Given the description of an element on the screen output the (x, y) to click on. 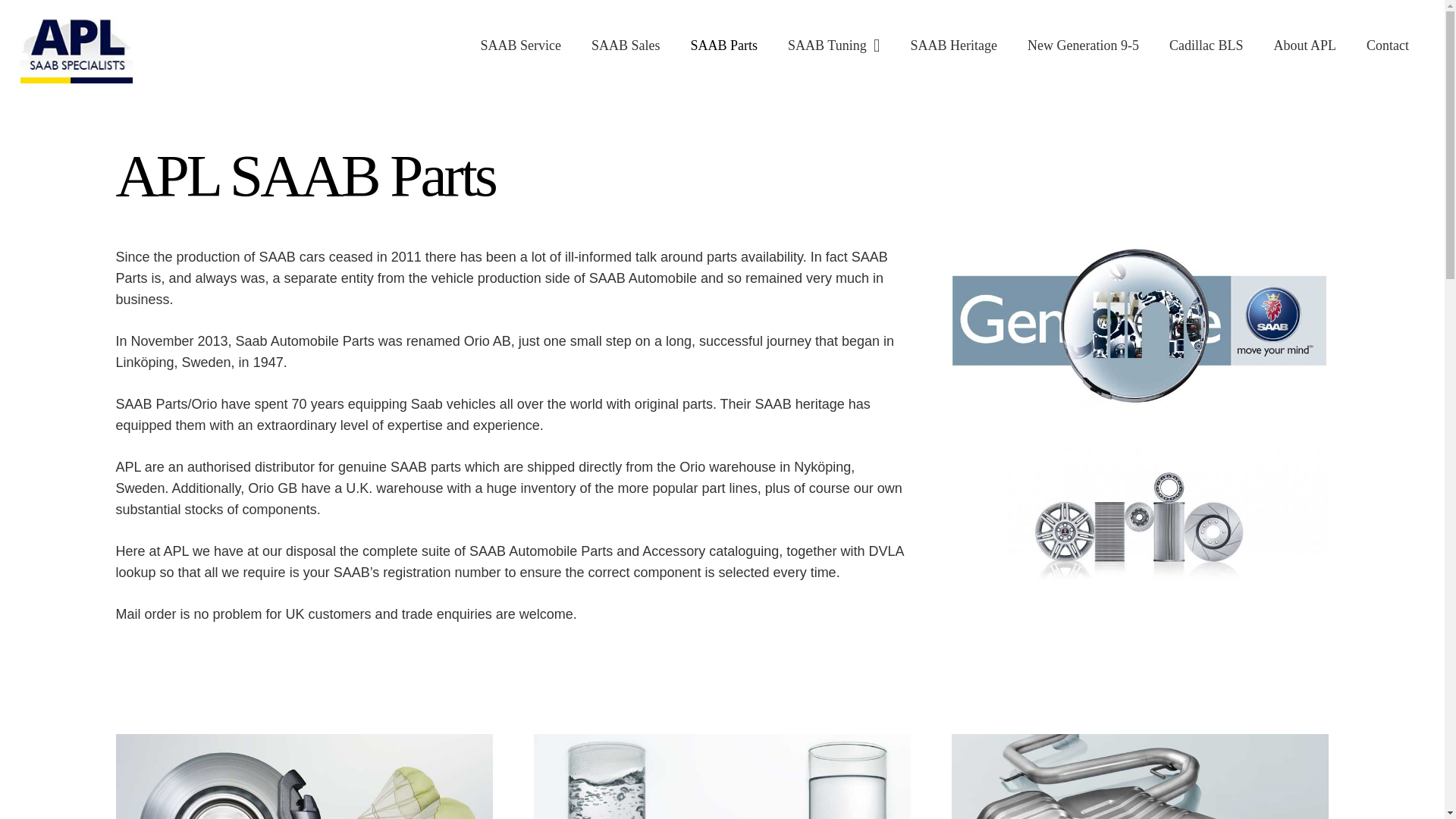
New Generation 9-5 (1082, 45)
Cadillac BLS (1206, 45)
SAAB Parts (724, 45)
SAAB Tuning (834, 45)
SAAB Sales (625, 45)
About APL (1305, 45)
SAAB Heritage (953, 45)
SAAB Service (520, 45)
